Given the description of an element on the screen output the (x, y) to click on. 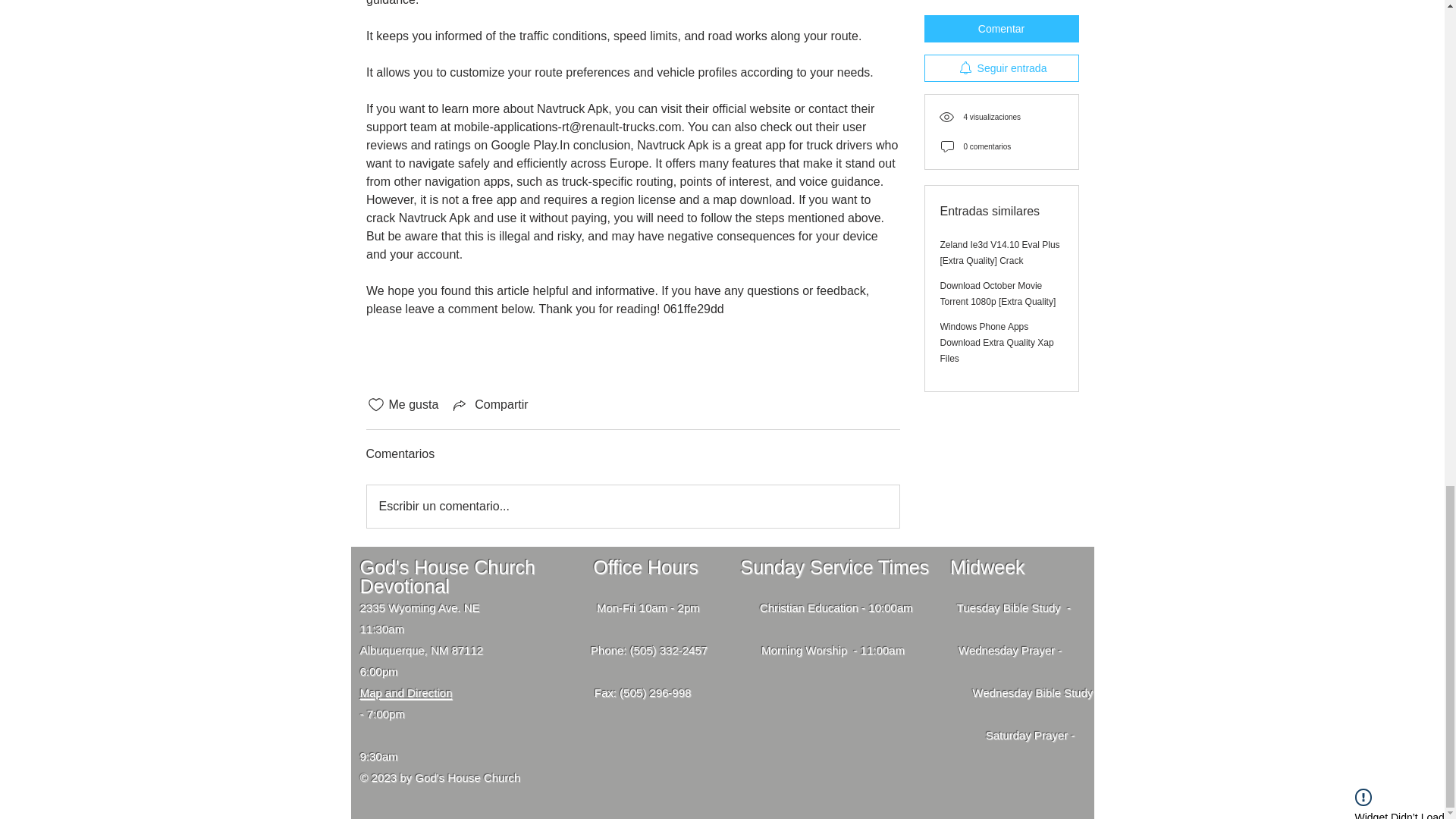
Compartir (488, 404)
Escribir un comentario... (632, 506)
